Given the description of an element on the screen output the (x, y) to click on. 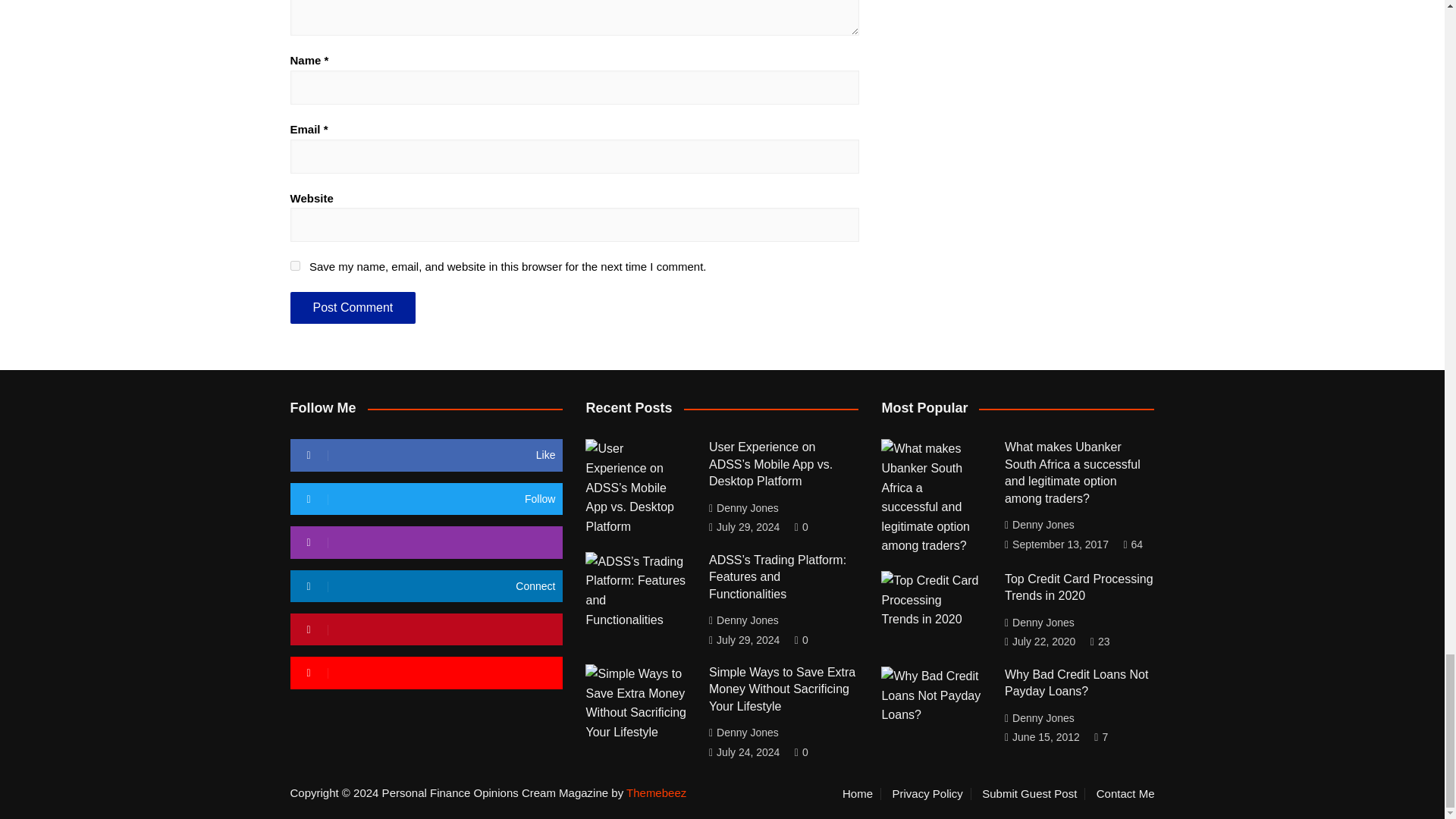
Post Comment (351, 307)
yes (294, 266)
